Given the description of an element on the screen output the (x, y) to click on. 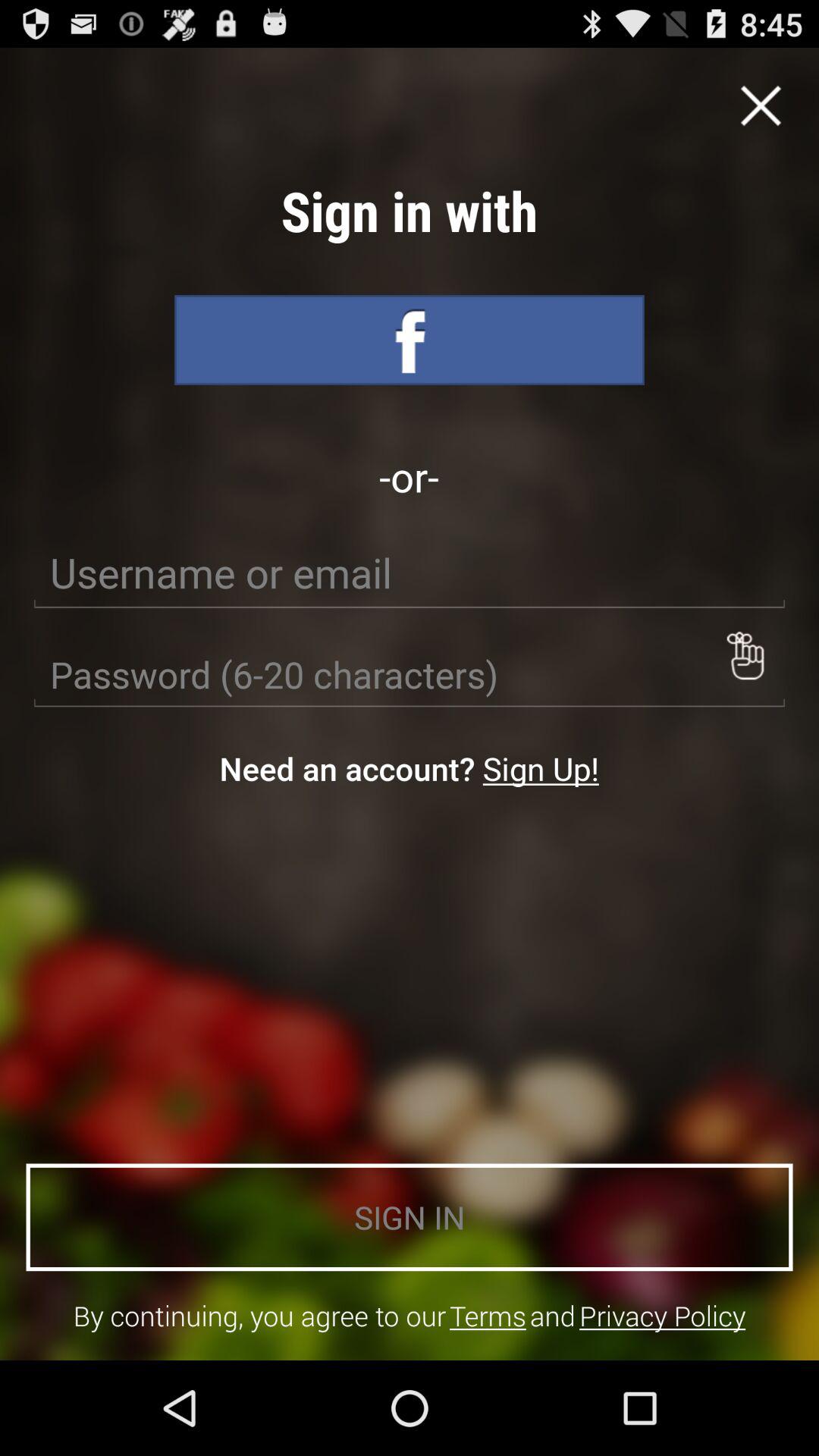
toggle cance (760, 105)
